Given the description of an element on the screen output the (x, y) to click on. 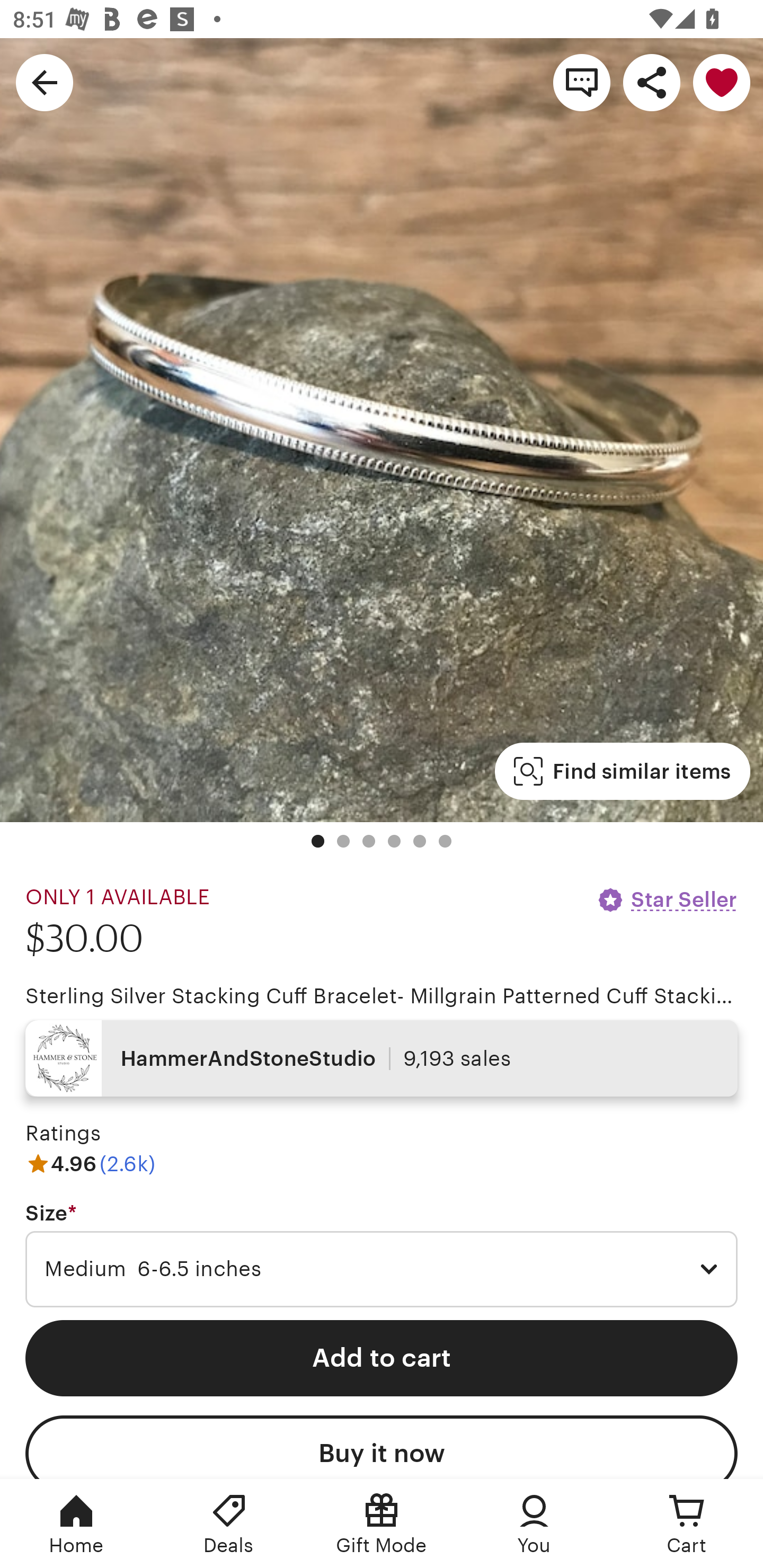
Navigate up (44, 81)
Contact shop (581, 81)
Share (651, 81)
Find similar items (622, 771)
Star Seller (666, 899)
HammerAndStoneStudio 9,193 sales (381, 1058)
Ratings (62, 1133)
4.96 (2.6k) (90, 1163)
Size * Required Medium  6-6.5 inches (381, 1254)
Medium  6-6.5 inches (381, 1268)
Add to cart (381, 1358)
Buy it now (381, 1446)
Deals (228, 1523)
Gift Mode (381, 1523)
You (533, 1523)
Cart (686, 1523)
